Given the description of an element on the screen output the (x, y) to click on. 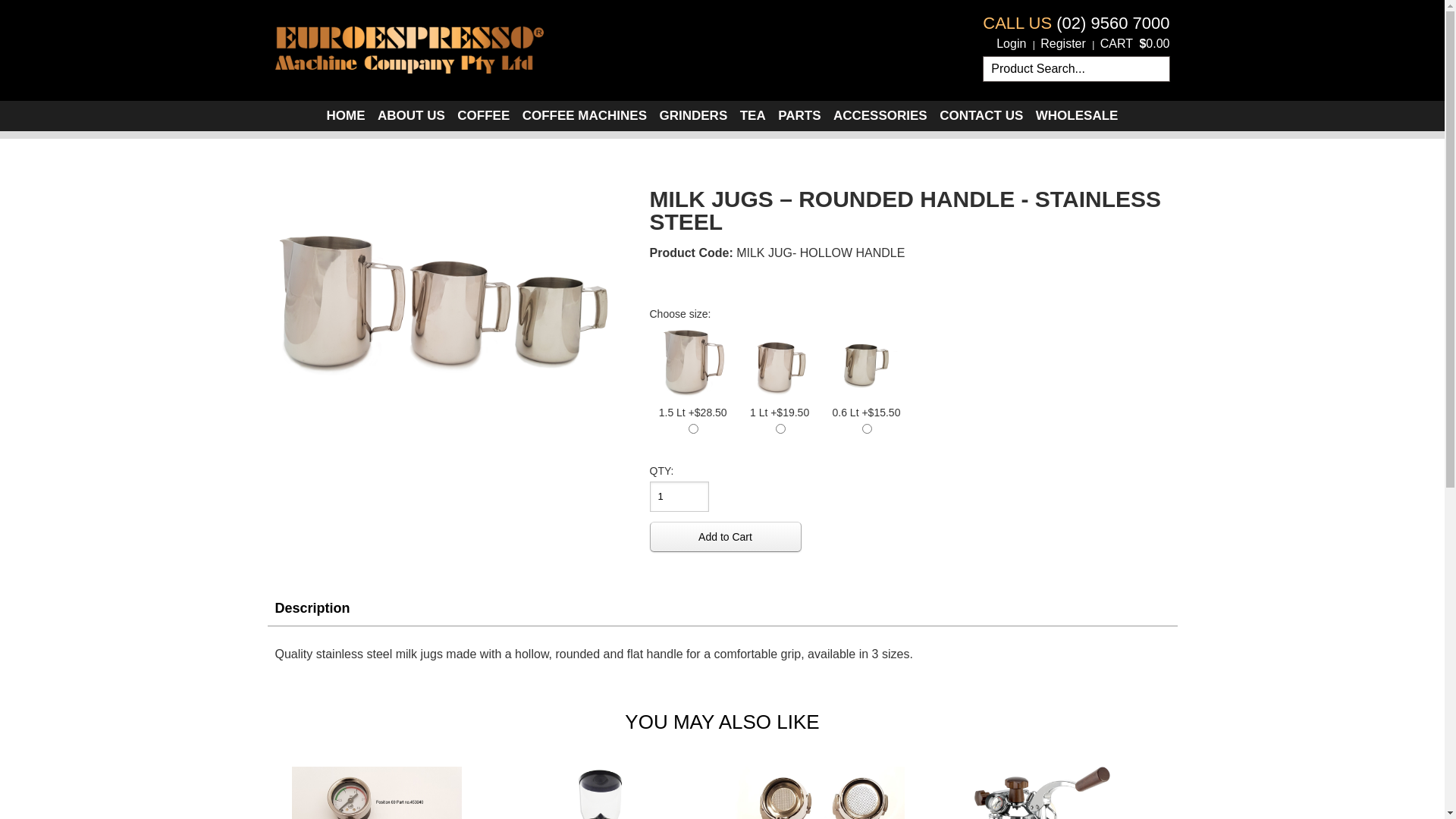
ABOUT US Element type: text (411, 115)
Add to Cart Element type: text (724, 536)
1.5 Lt  Element type: hover (693, 363)
Euroespresso Element type: hover (408, 46)
CONTACT US Element type: text (981, 115)
PARTS Element type: text (799, 115)
COFFEE Element type: text (483, 115)
0.6 Lt  Element type: hover (865, 363)
GRINDERS Element type: text (692, 115)
HOME Element type: text (346, 115)
COFFEE MACHINES Element type: text (584, 115)
ACCESSORIES Element type: text (879, 115)
Login Element type: text (1011, 43)
WHOLESALE Element type: text (1077, 115)
CART Element type: text (1116, 43)
CALL US (02) 9560 7000 Element type: text (1075, 23)
Register Element type: text (1062, 43)
1 Lt  Element type: hover (779, 363)
TEA Element type: text (752, 115)
